Given the description of an element on the screen output the (x, y) to click on. 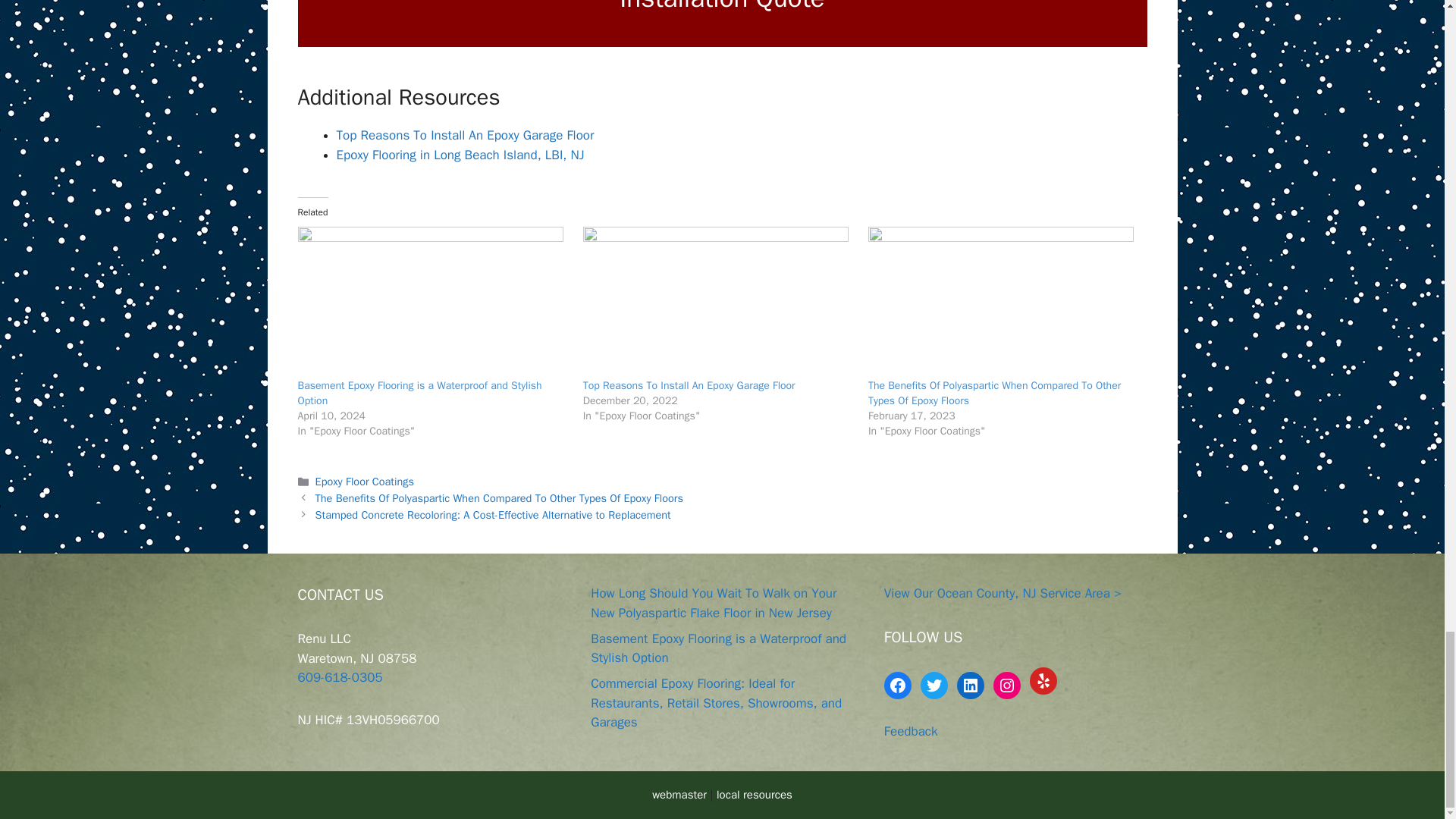
Epoxy Flooring in Long Beach Island, LBI, NJ (460, 154)
Epoxy Floor Coatings (364, 481)
Top Reasons To Install An Epoxy Garage Floor (718, 302)
Basement Epoxy Flooring is a Waterproof and Stylish Option (419, 393)
Basement Epoxy Flooring is a Waterproof and Stylish Option (419, 393)
Basement Epoxy Flooring is a Waterproof and Stylish Option (432, 302)
